Given the description of an element on the screen output the (x, y) to click on. 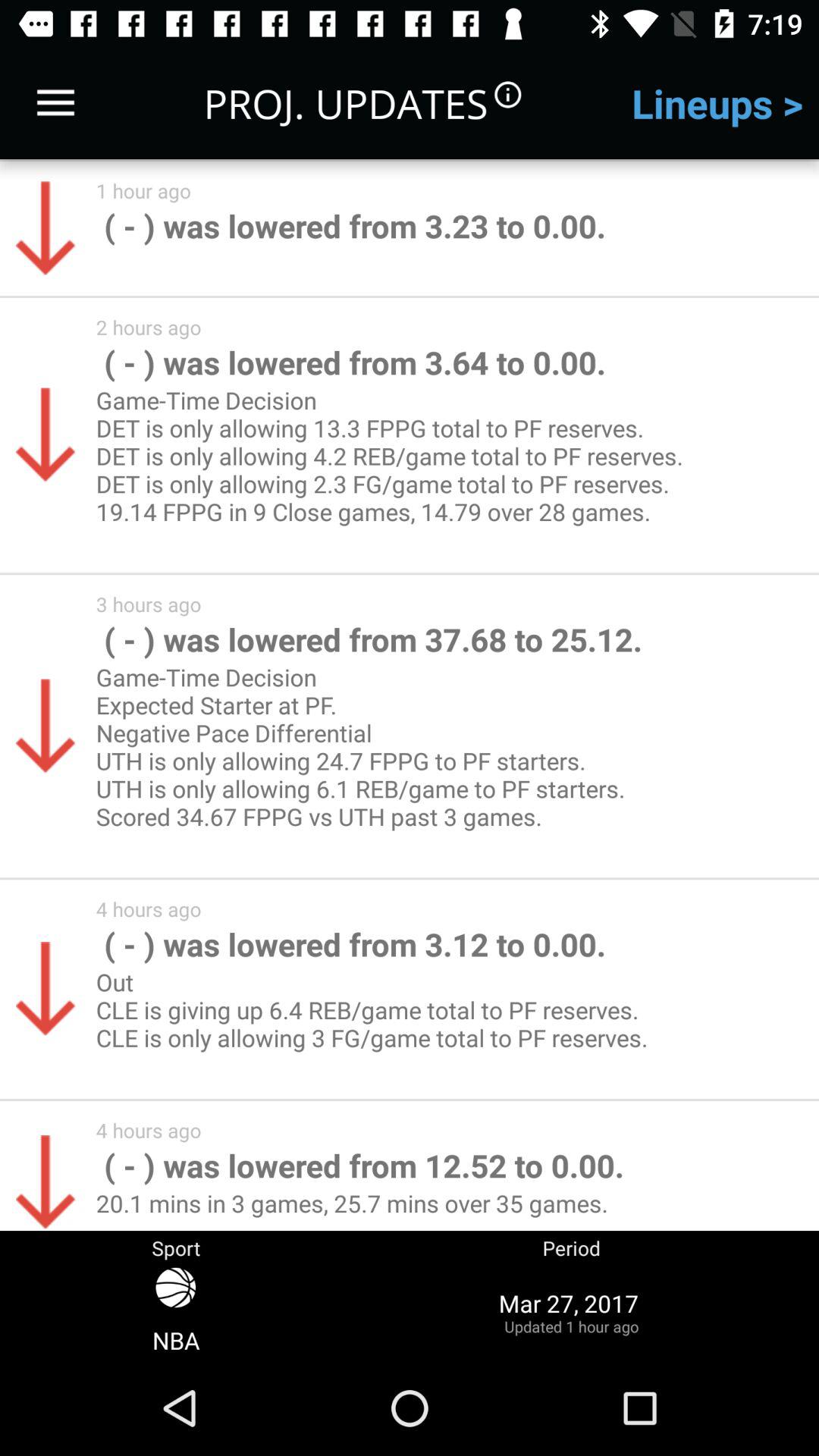
select lineups > (717, 103)
